Given the description of an element on the screen output the (x, y) to click on. 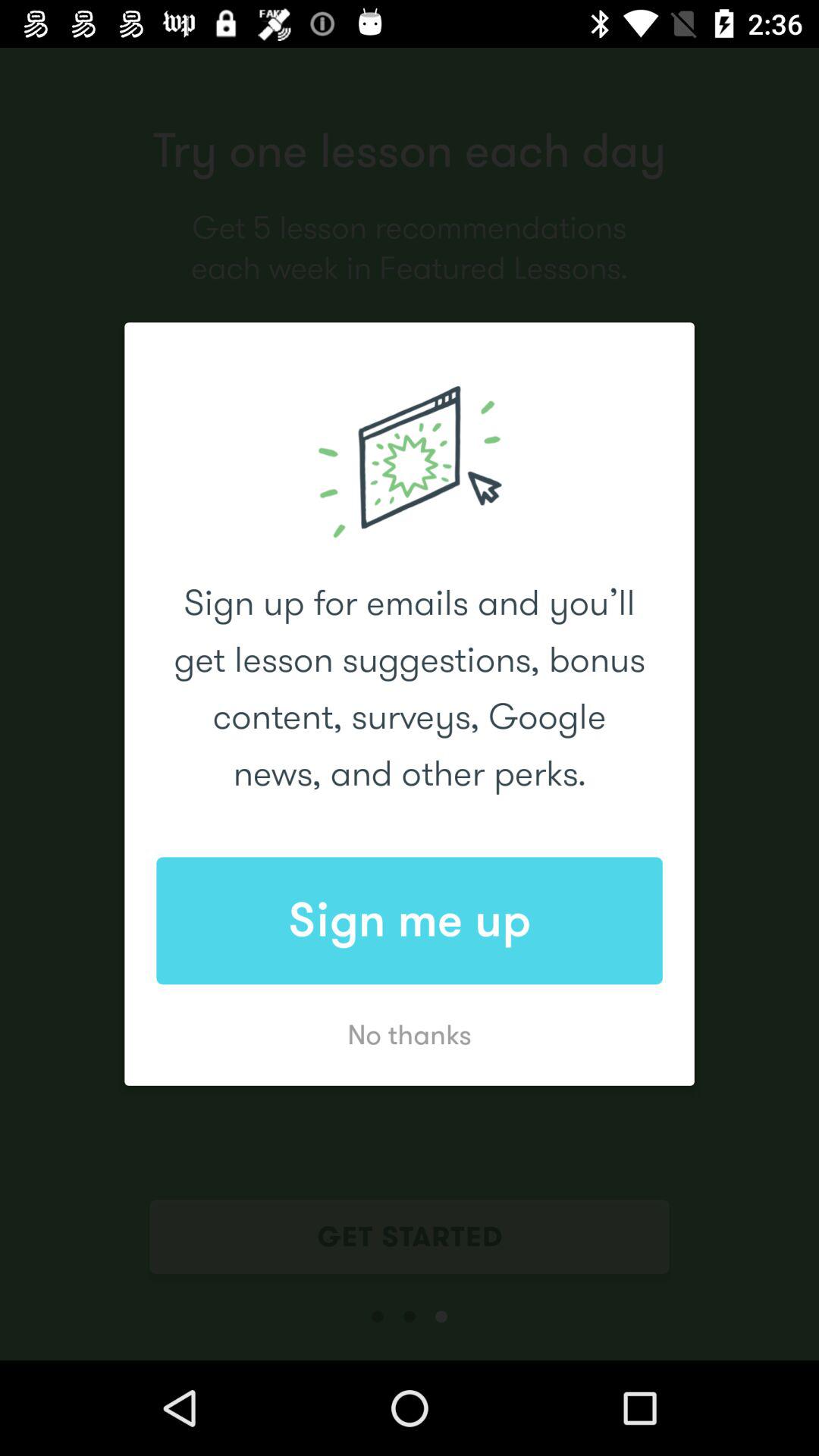
press the icon above get started item (409, 1034)
